Given the description of an element on the screen output the (x, y) to click on. 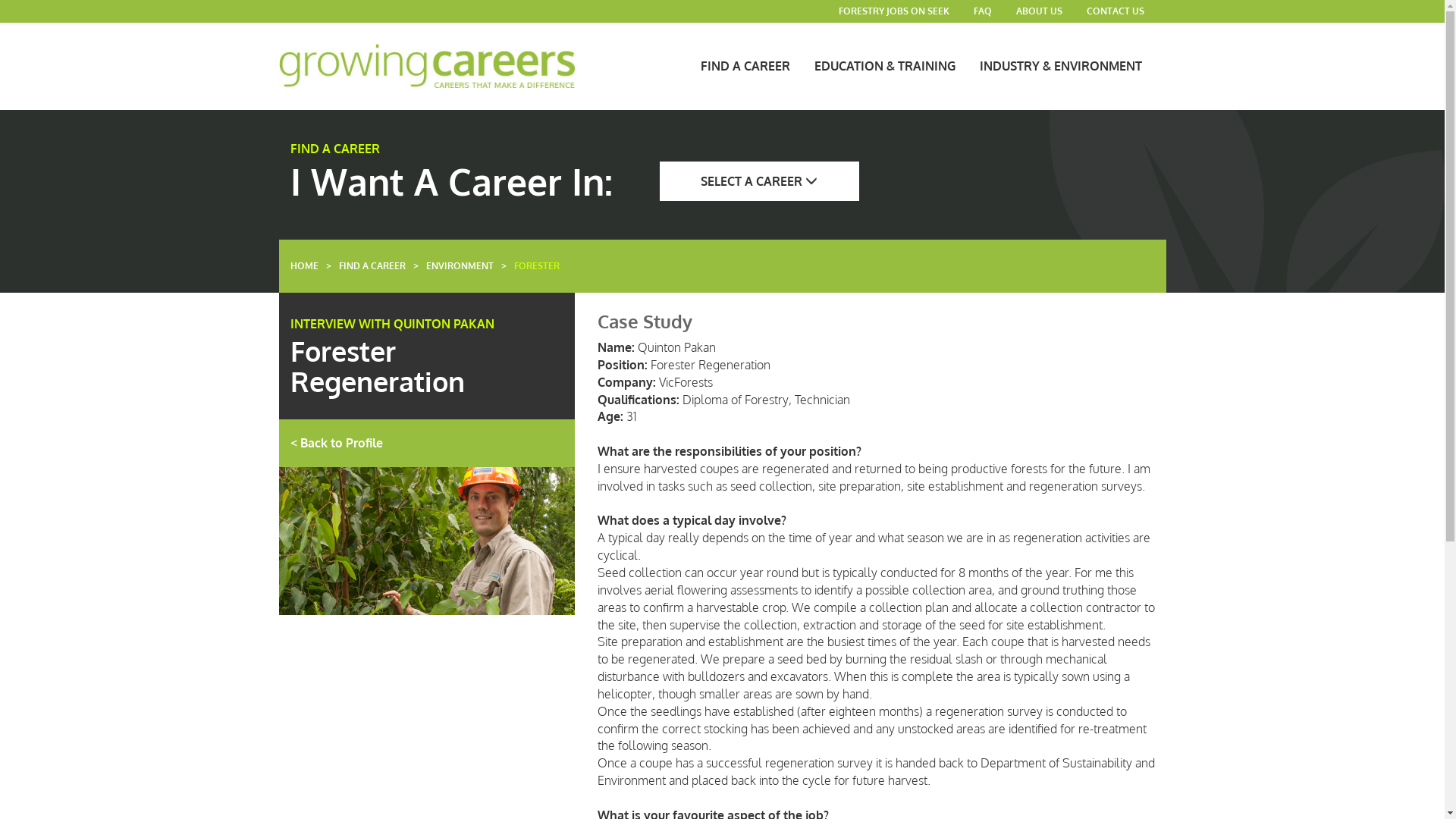
ABOUT US Element type: text (1039, 10)
CONTACT US Element type: text (1114, 10)
FIND A CAREER Element type: text (375, 265)
< Back to Profile Element type: text (425, 442)
FORESTRY JOBS ON SEEK Element type: text (893, 10)
EDUCATION & TRAINING Element type: text (884, 65)
HOME Element type: text (307, 265)
FORESTER Element type: text (540, 265)
ENVIRONMENT Element type: text (463, 265)
FIND A CAREER Element type: text (745, 65)
INDUSTRY & ENVIRONMENT Element type: text (1060, 65)
FAQ Element type: text (982, 10)
